Given the description of an element on the screen output the (x, y) to click on. 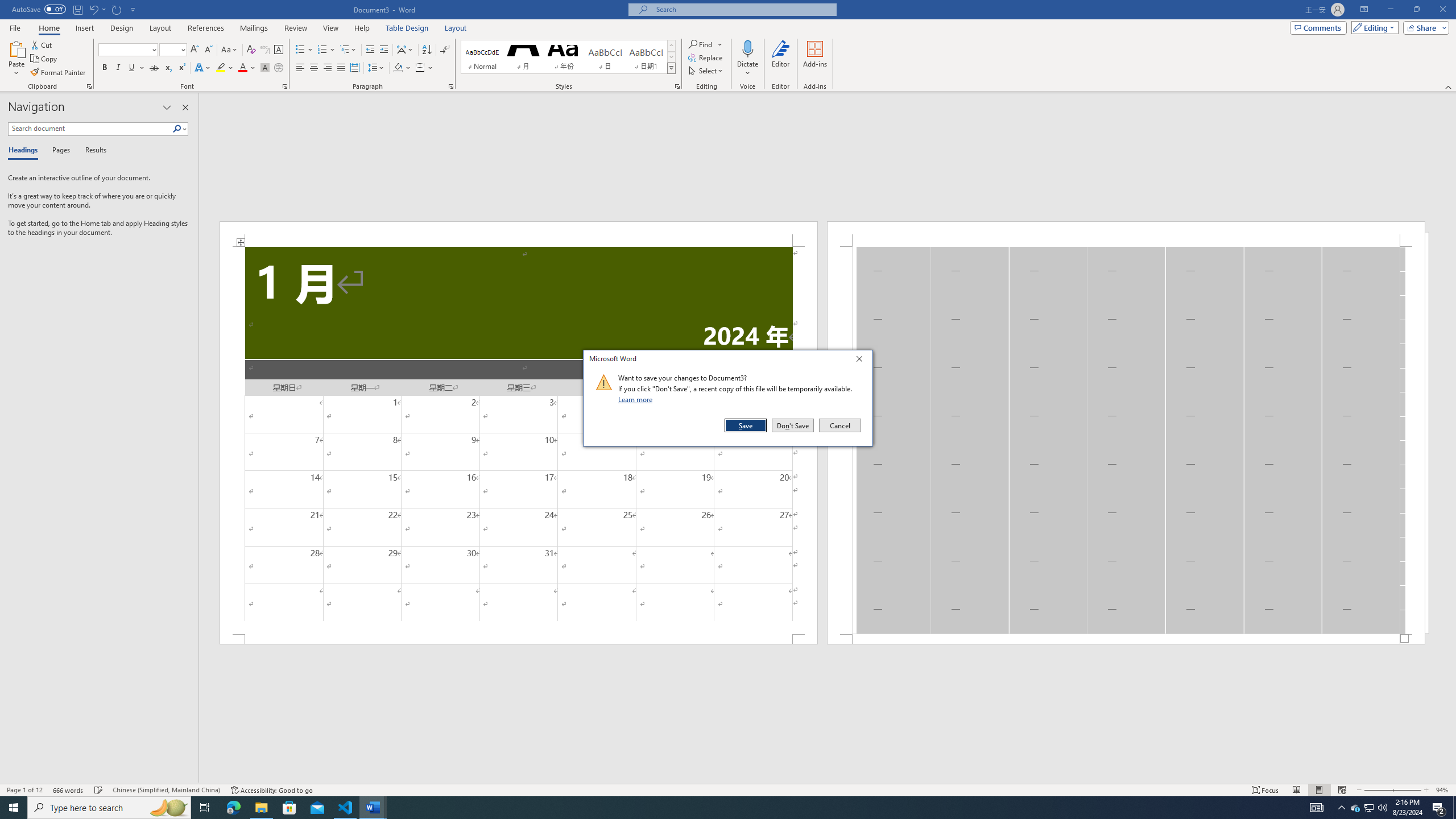
Undo Apply Quick Style (96, 9)
Repeat Style (117, 9)
Word - 2 running windows (373, 807)
